Given the description of an element on the screen output the (x, y) to click on. 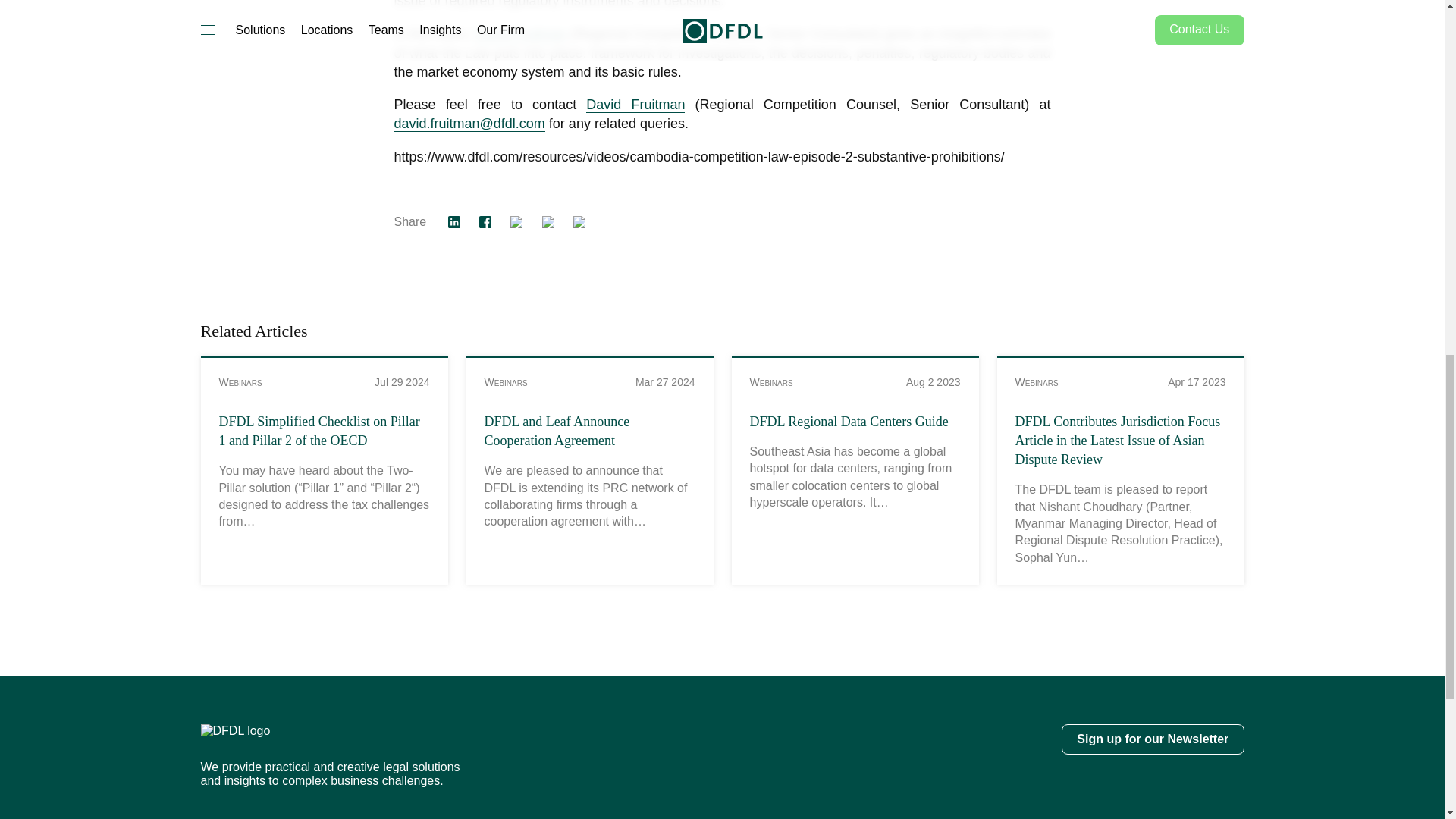
David Fruitman (520, 34)
David Fruitman (635, 105)
